Given the description of an element on the screen output the (x, y) to click on. 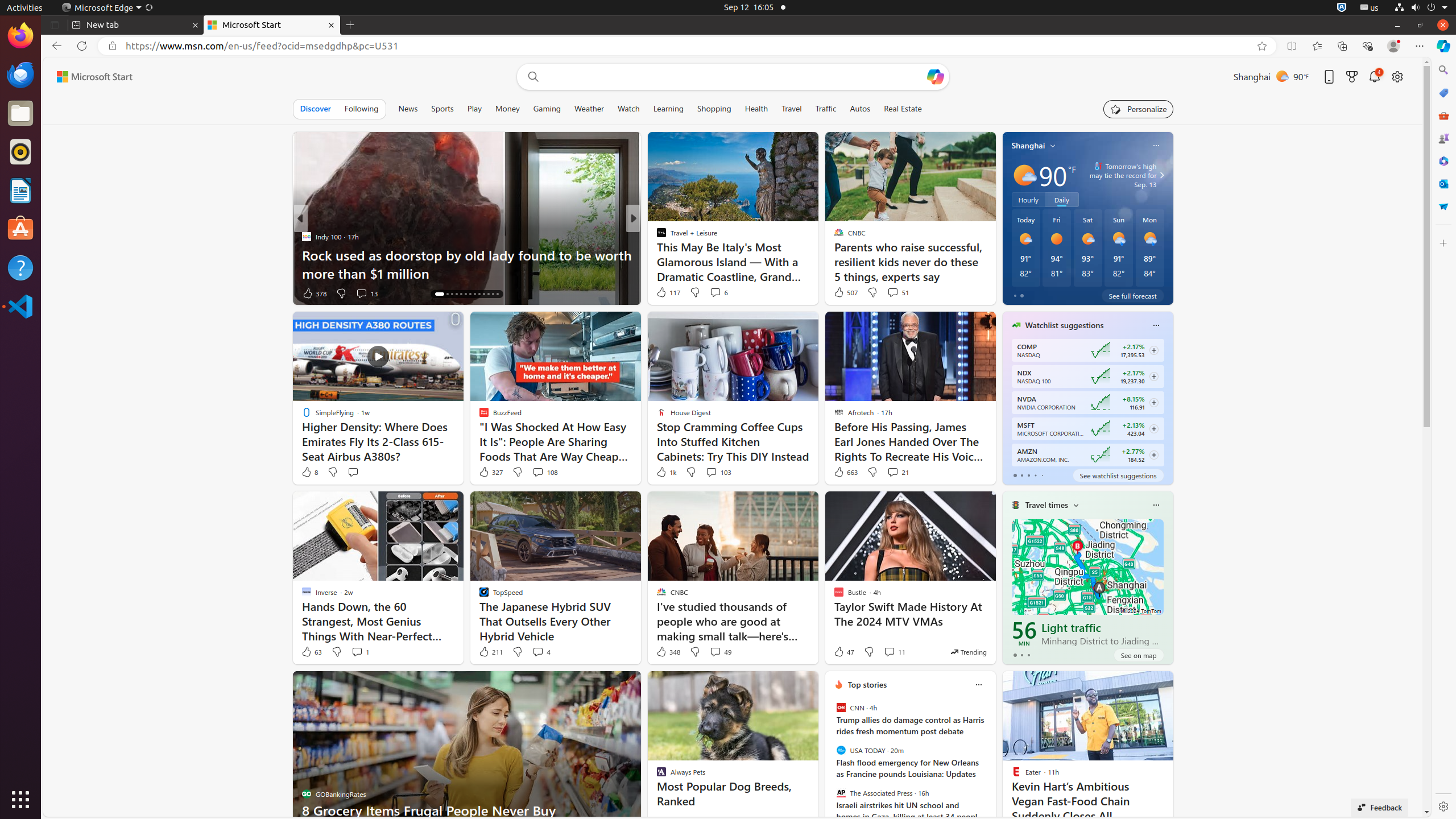
View comments 6 Comment Element type: push-button (715, 292)
This story is trending Element type: push-button (968, 651)
View comments 49 Comment Element type: link (719, 651)
Play Element type: link (473, 108)
Games Element type: push-button (1443, 137)
